Given the description of an element on the screen output the (x, y) to click on. 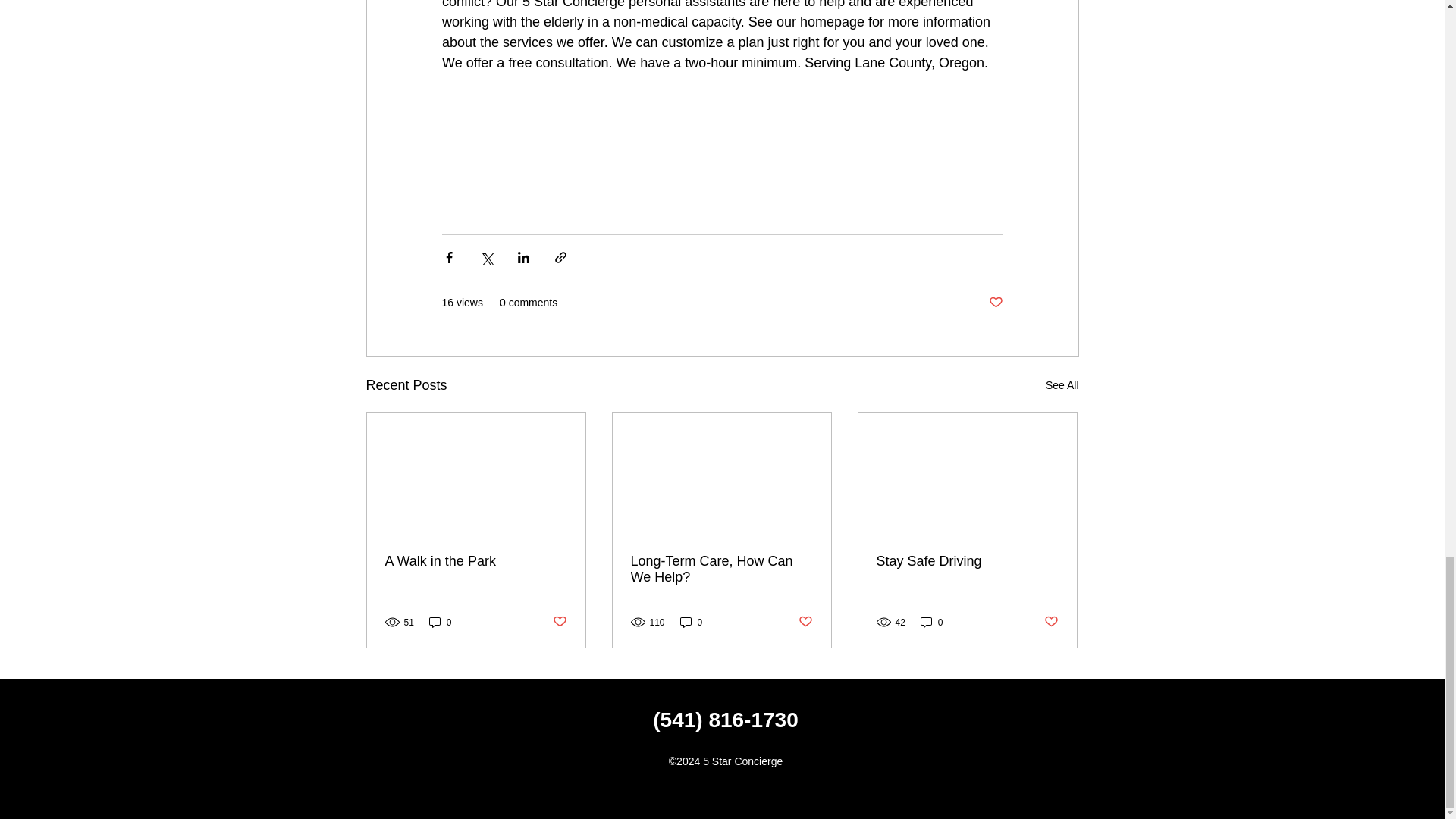
Long-Term Care, How Can We Help? (721, 569)
Post not marked as liked (804, 621)
See All (1061, 385)
0 (691, 622)
Stay Safe Driving (967, 561)
Post not marked as liked (995, 302)
Post not marked as liked (1050, 621)
0 (931, 622)
Post not marked as liked (558, 621)
A Walk in the Park (476, 561)
